Given the description of an element on the screen output the (x, y) to click on. 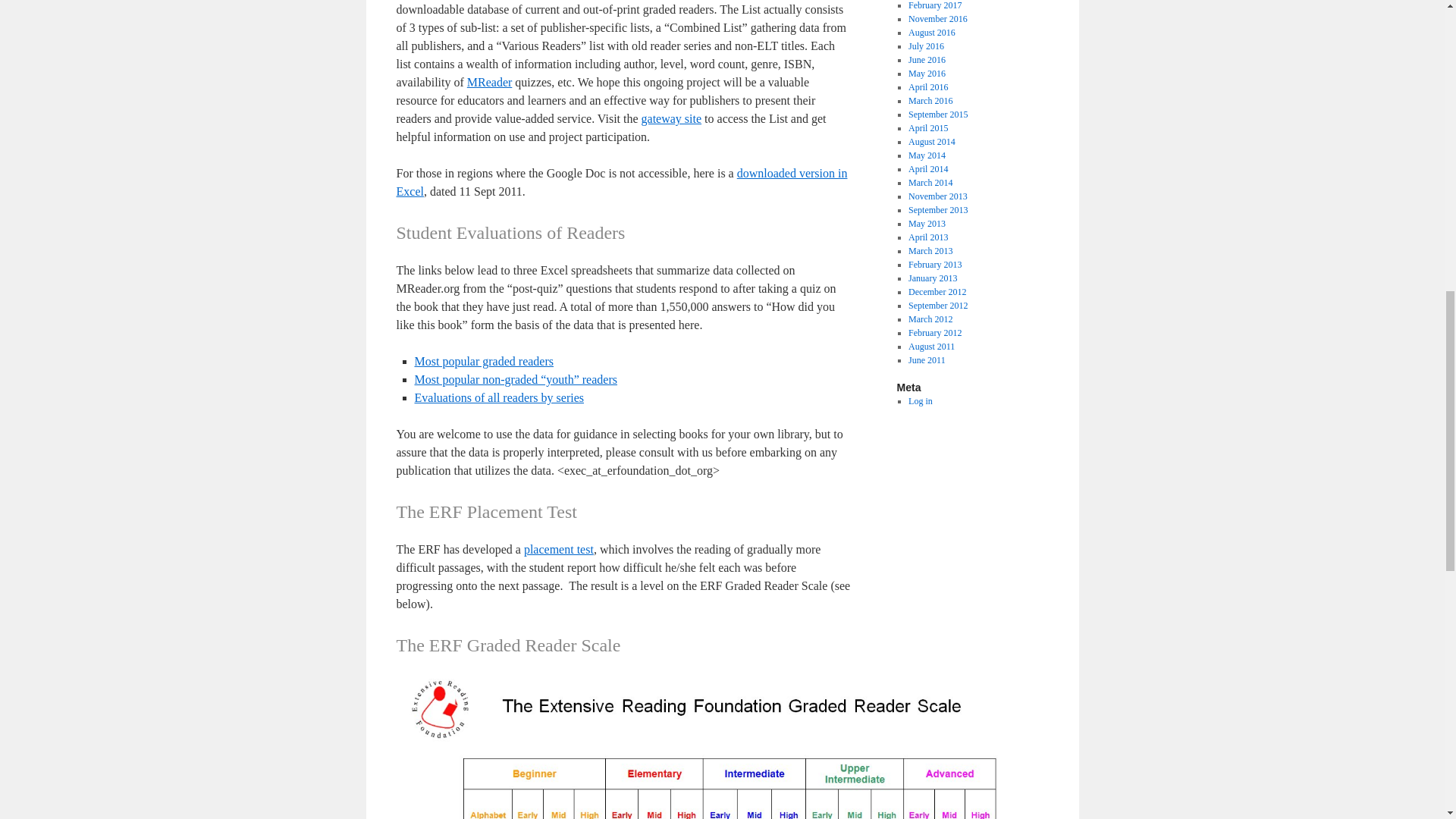
ERF Placement test (559, 549)
